Given the description of an element on the screen output the (x, y) to click on. 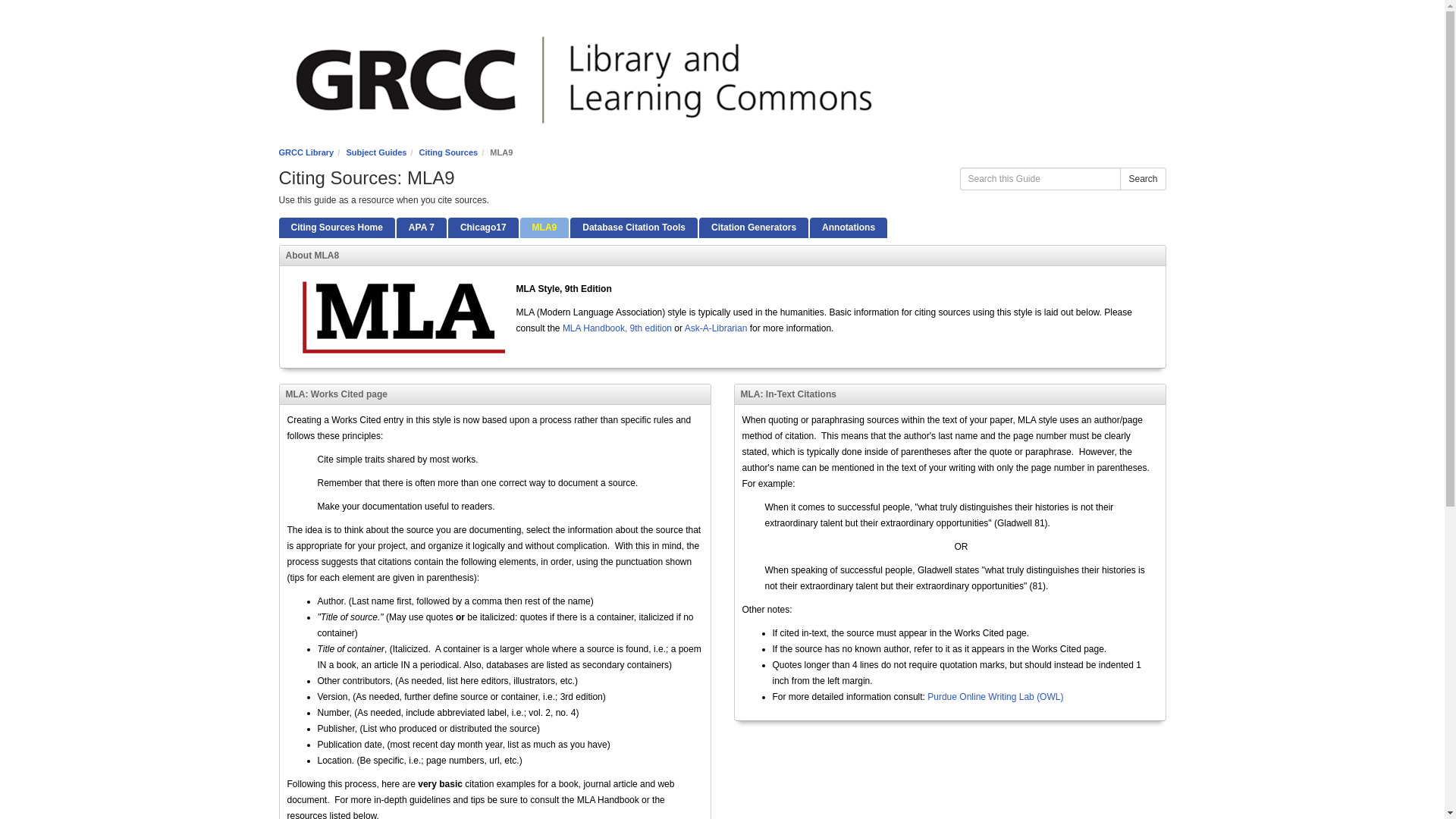
Citing Sources (449, 152)
MLA Handbook, 9th edition (616, 327)
Subject Guides (376, 152)
APA 7 (421, 227)
Citation Generators (753, 227)
Chicago17 (483, 227)
Ask-A-Librarian (716, 327)
Database Citation Tools (633, 227)
MLA9 (544, 227)
Search (1142, 178)
